Given the description of an element on the screen output the (x, y) to click on. 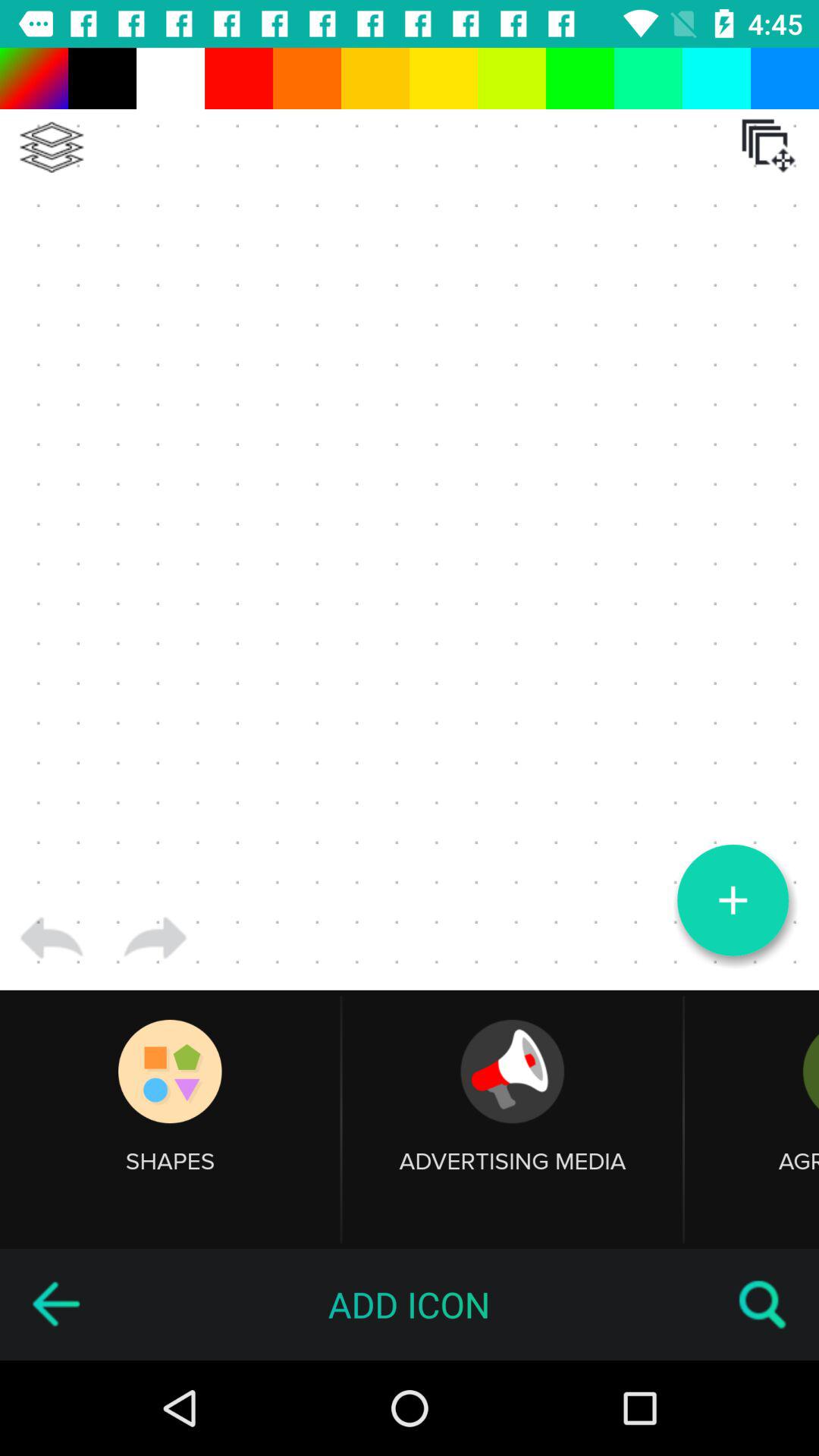
go back to previous screen (55, 1304)
